Given the description of an element on the screen output the (x, y) to click on. 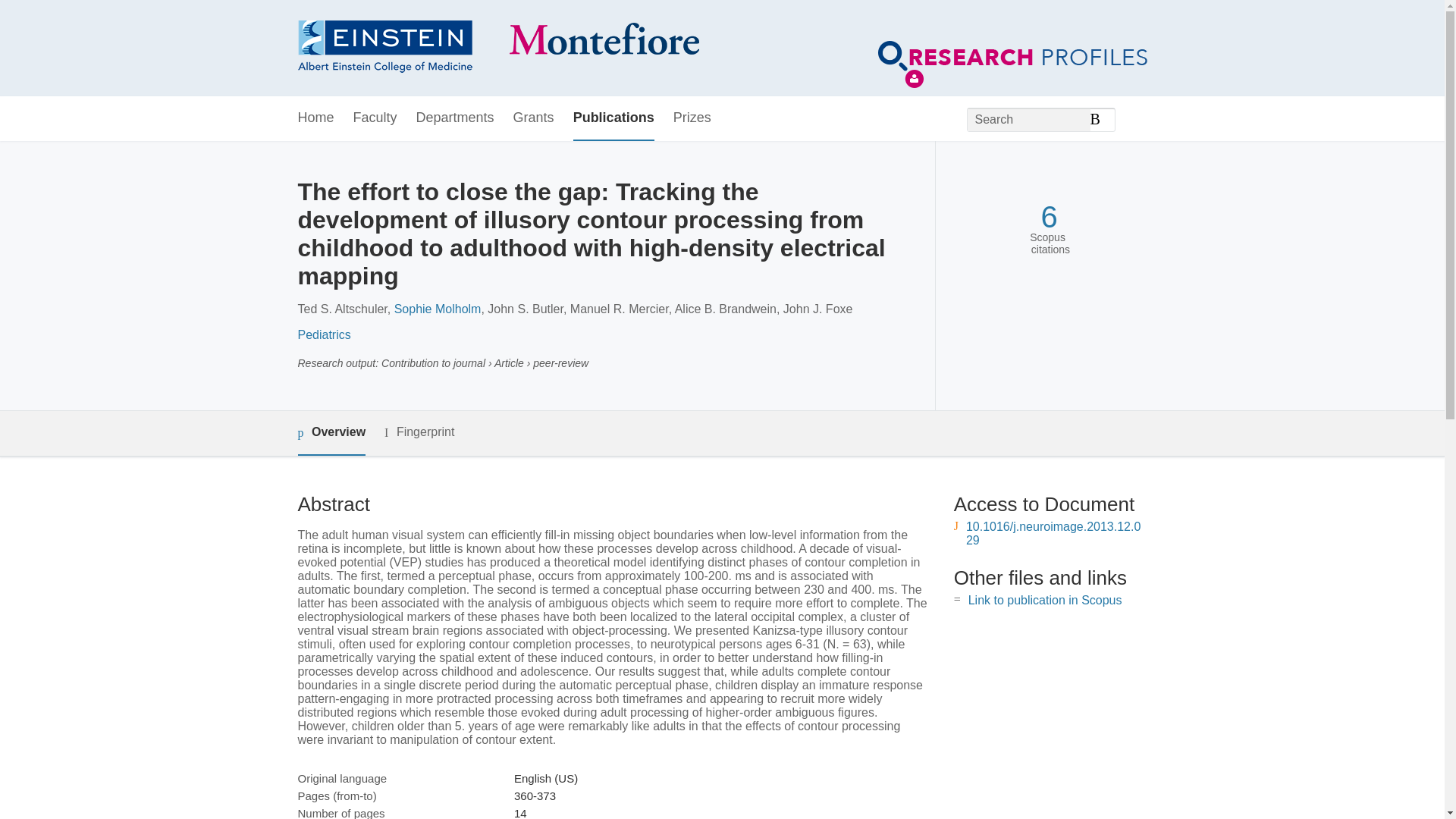
Grants (533, 118)
Overview (331, 433)
Link to publication in Scopus (1045, 599)
Faculty (375, 118)
Albert Einstein College of Medicine Home (497, 48)
Fingerprint (419, 432)
Departments (455, 118)
Pediatrics (323, 334)
Sophie Molholm (437, 308)
Publications (613, 118)
